Given the description of an element on the screen output the (x, y) to click on. 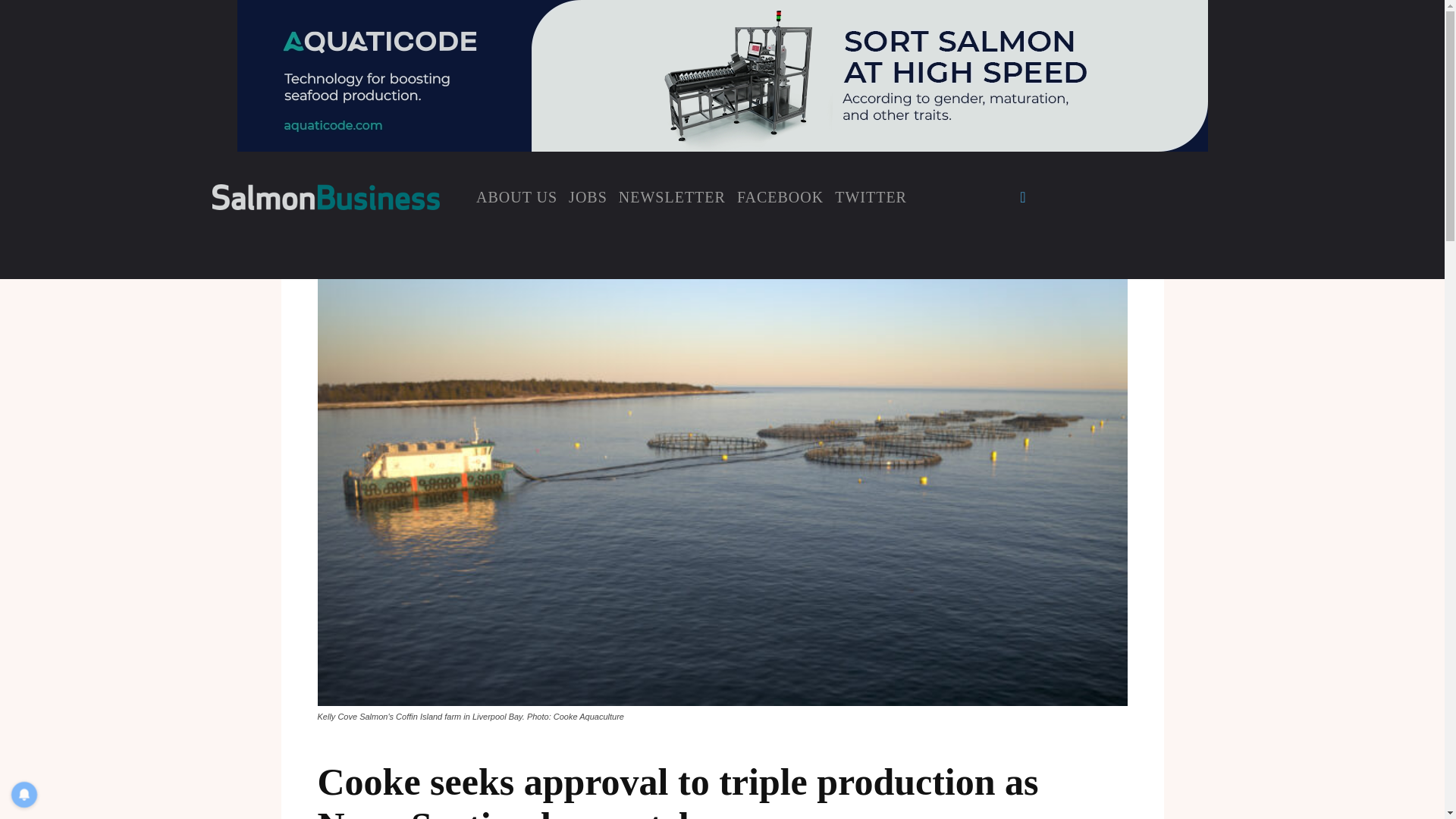
NEWSLETTER (671, 196)
ABOUT US (516, 196)
FACEBOOK (780, 196)
